Given the description of an element on the screen output the (x, y) to click on. 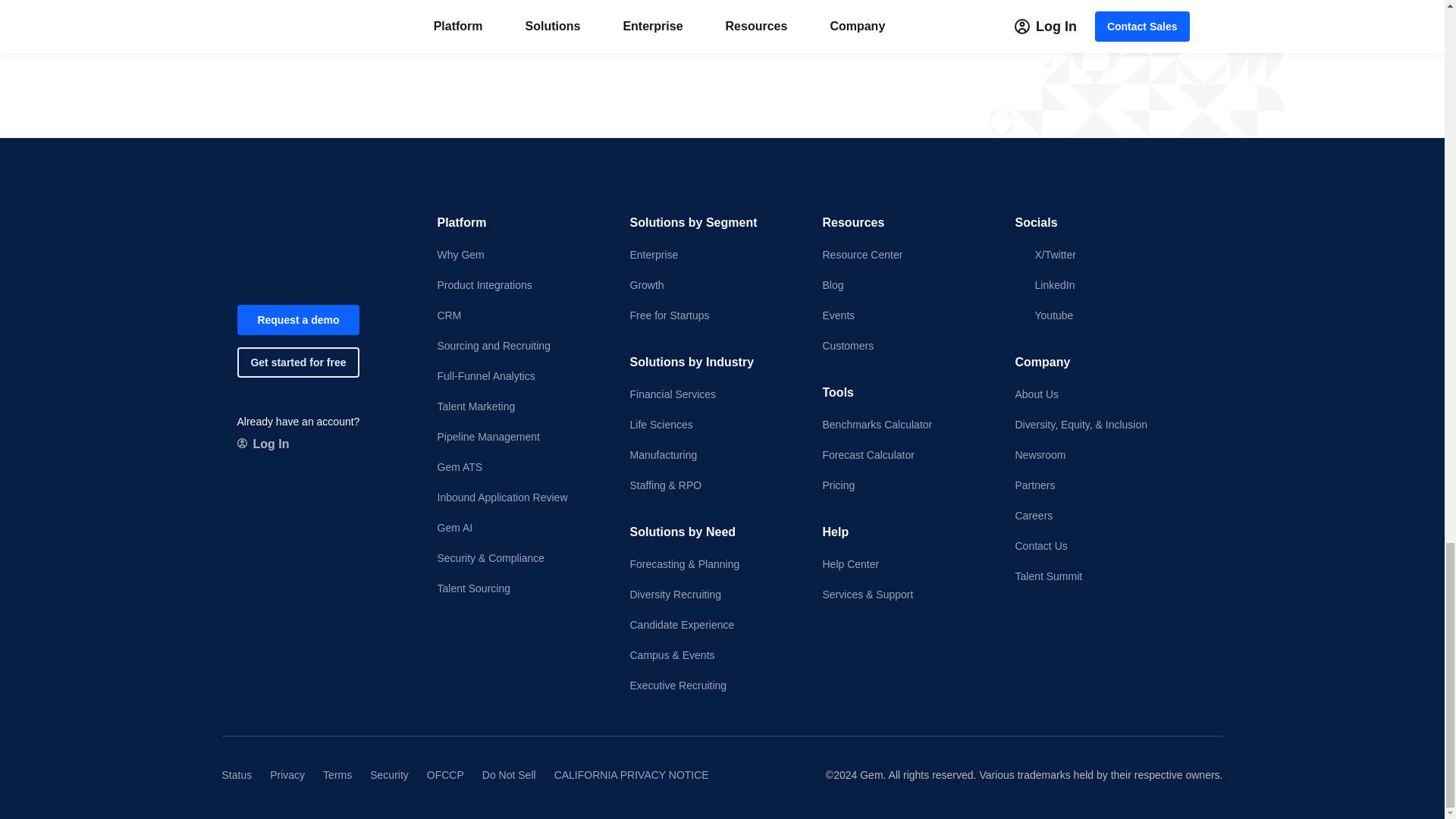
Request a demo (297, 319)
Pipeline Management (520, 436)
Gem ATS (520, 467)
Why Gem (520, 254)
Sourcing and Recruiting (520, 345)
Talent Marketing (520, 406)
Gem AI (520, 527)
Talent Sourcing (520, 588)
Product Integrations (520, 284)
Get started for free (297, 362)
Full-Funnel Analytics (520, 376)
Enterprise (712, 254)
Growth (712, 284)
Free for Startups (712, 314)
Financial Services (712, 394)
